Given the description of an element on the screen output the (x, y) to click on. 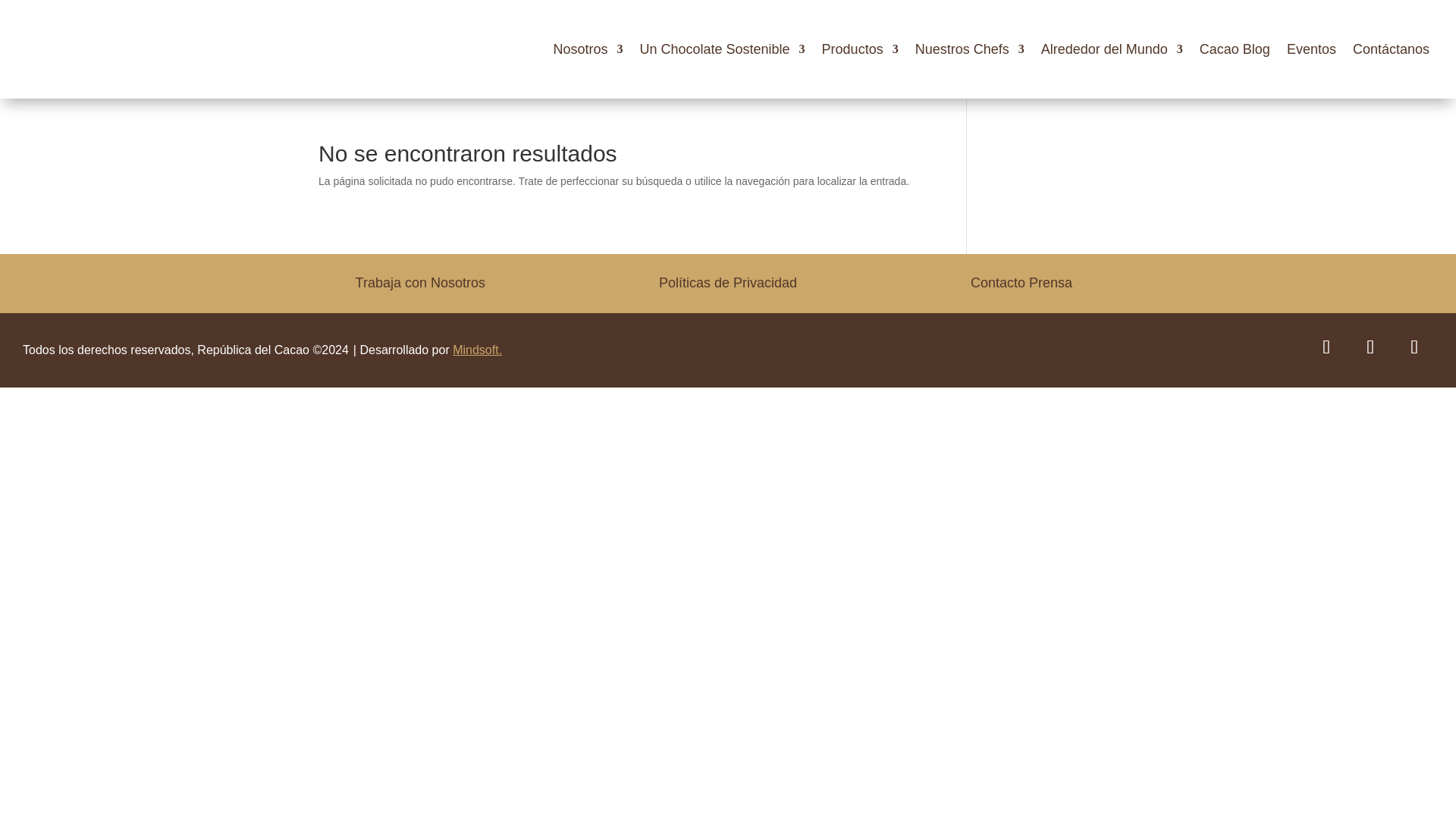
Cacao Blog (1234, 48)
Seguir en Instagram (1413, 347)
Mindsoft. (477, 349)
Nuestros Chefs (970, 48)
Alrededor del Mundo (1111, 48)
Nosotros (588, 48)
Seguir en LinkedIn (1370, 347)
Productos (860, 48)
Contacto Prensa (1021, 282)
Seguir en Facebook (1326, 347)
